Given the description of an element on the screen output the (x, y) to click on. 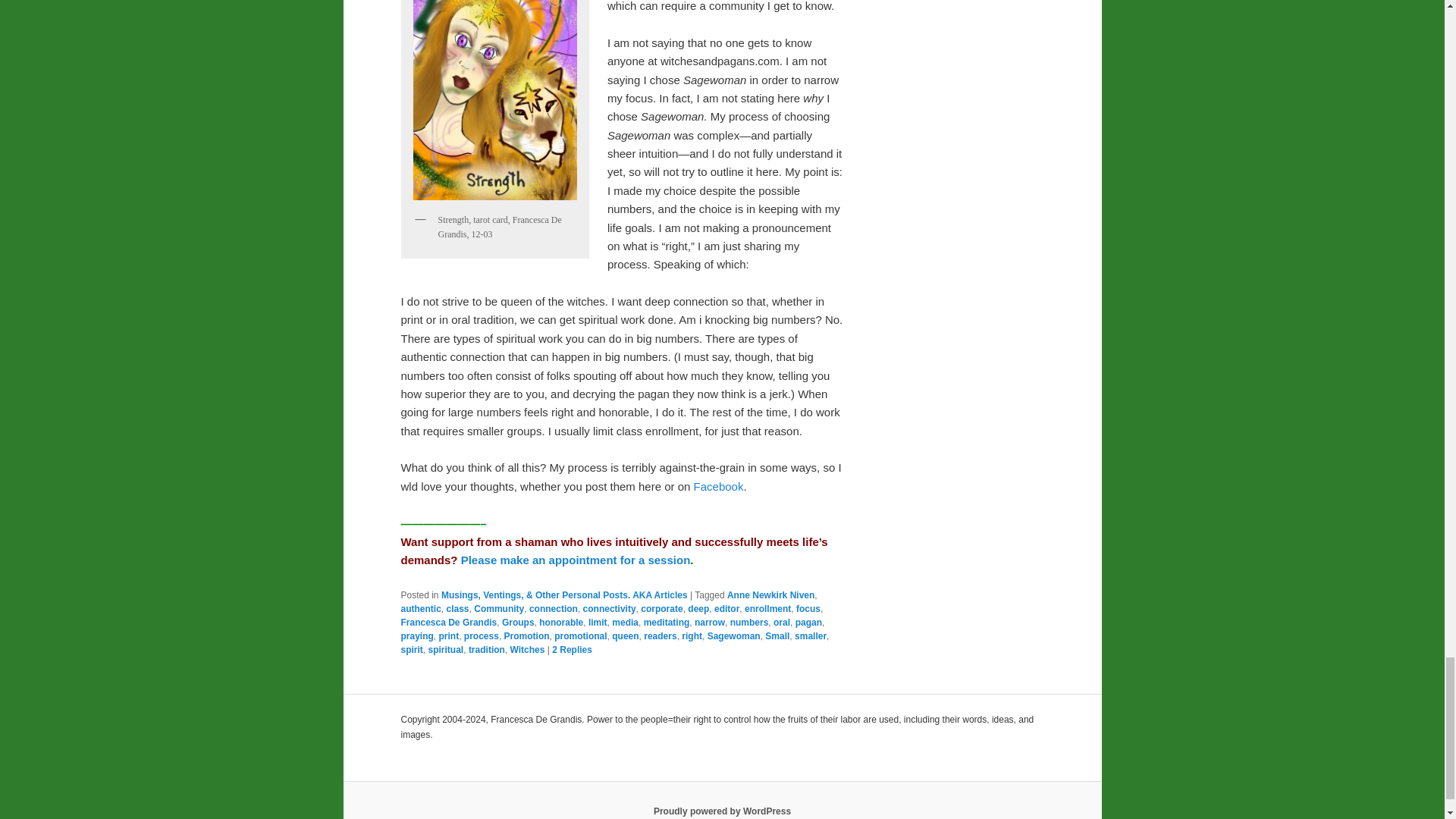
Semantic Personal Publishing Platform (721, 810)
